Given the description of an element on the screen output the (x, y) to click on. 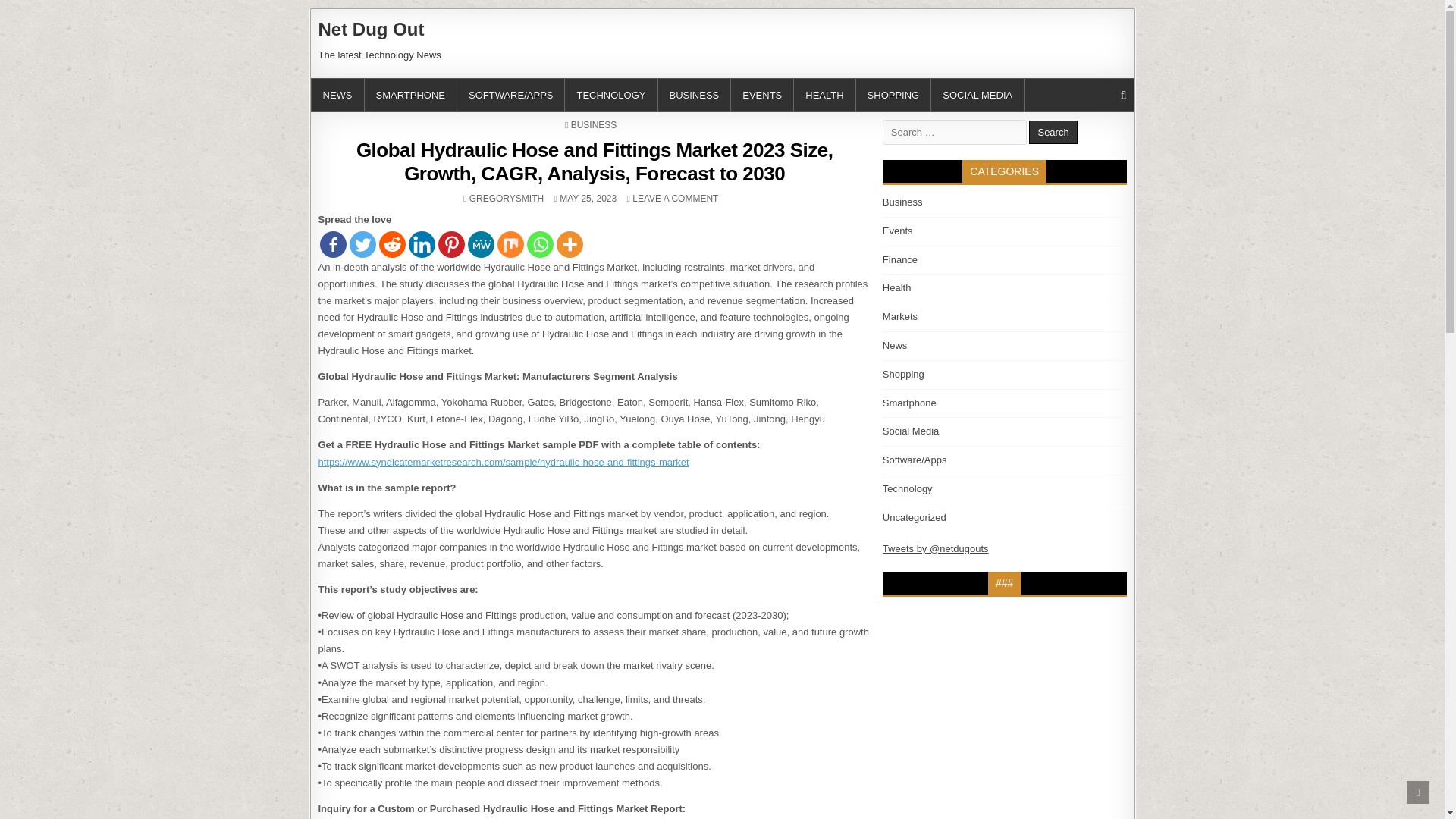
Events (897, 230)
Twitter (362, 243)
Facebook (333, 243)
Scroll to Top (1417, 792)
More (569, 243)
HEALTH (505, 198)
Whatsapp (824, 94)
SHOPPING (539, 243)
Pinterest (893, 94)
BUSINESS (451, 243)
MeWe (593, 124)
Search (480, 243)
TECHNOLOGY (1053, 132)
